Given the description of an element on the screen output the (x, y) to click on. 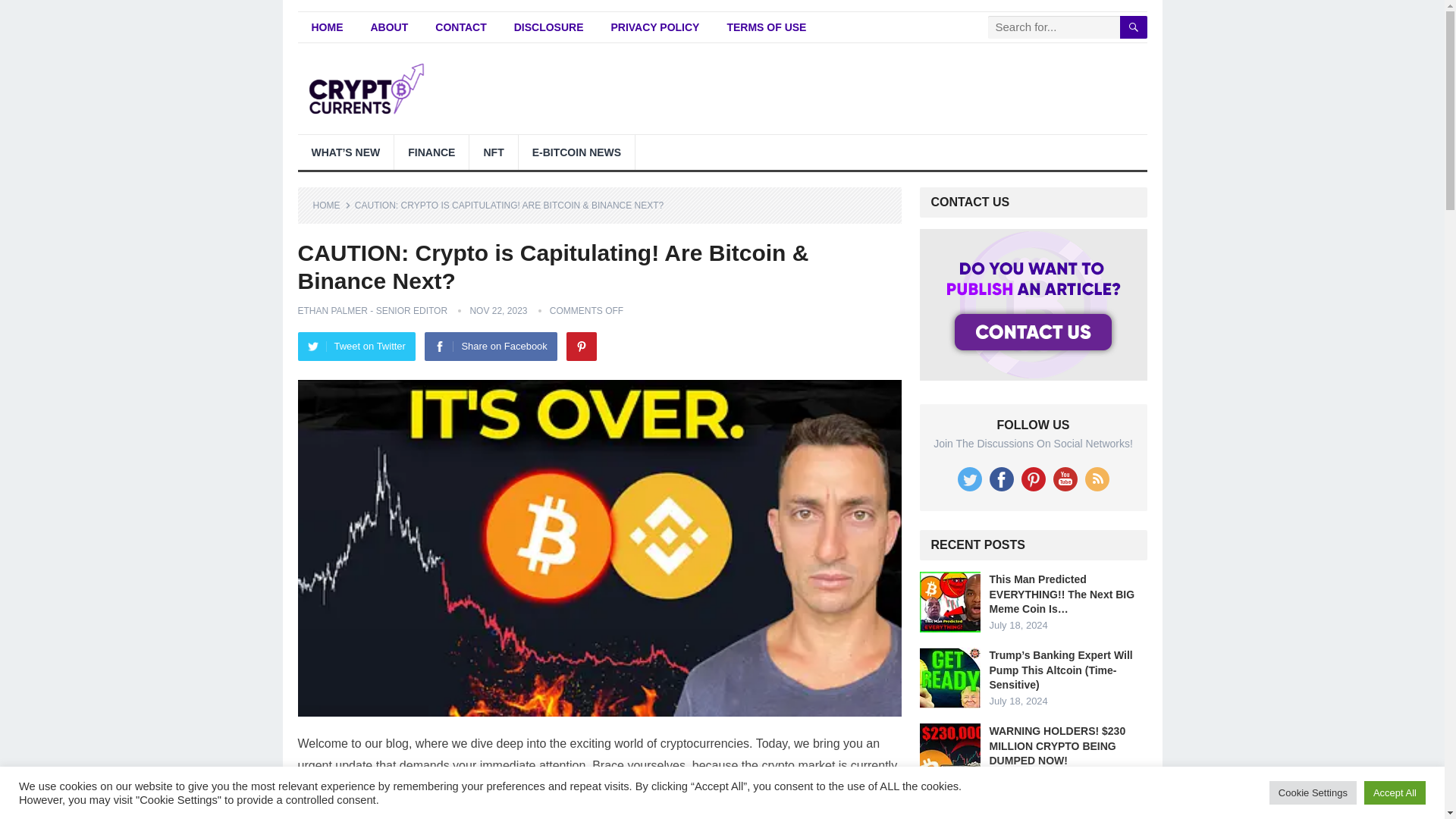
HOME (326, 27)
Posts by Ethan Palmer - Senior Editor (371, 310)
CONTACT (460, 27)
ETHAN PALMER - SENIOR EDITOR (371, 310)
HOME (331, 204)
PRIVACY POLICY (654, 27)
Tweet on Twitter (355, 346)
TERMS OF USE (766, 27)
FINANCE (431, 152)
Pinterest (581, 346)
DISCLOSURE (548, 27)
ABOUT (389, 27)
Share on Facebook (490, 346)
E-BITCOIN NEWS (576, 152)
NFT (492, 152)
